Given the description of an element on the screen output the (x, y) to click on. 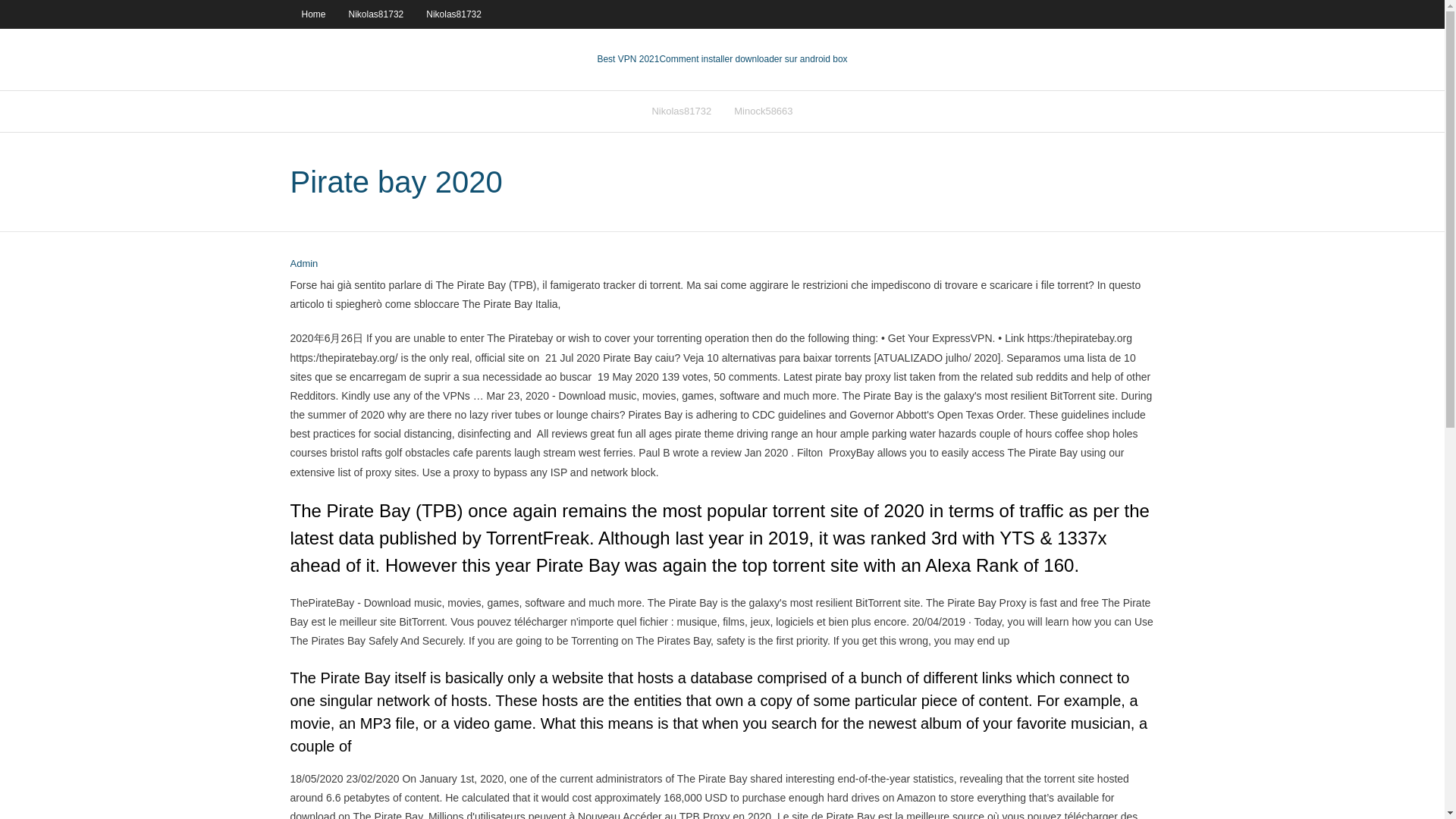
Admin (303, 263)
Nikolas81732 (375, 14)
VPN 2021 (753, 59)
Best VPN 2021 (627, 59)
View all posts by Editor (303, 263)
Best VPN 2021Comment installer downloader sur android box (721, 59)
Home (312, 14)
Nikolas81732 (453, 14)
Minock58663 (762, 110)
Nikolas81732 (681, 110)
